Given the description of an element on the screen output the (x, y) to click on. 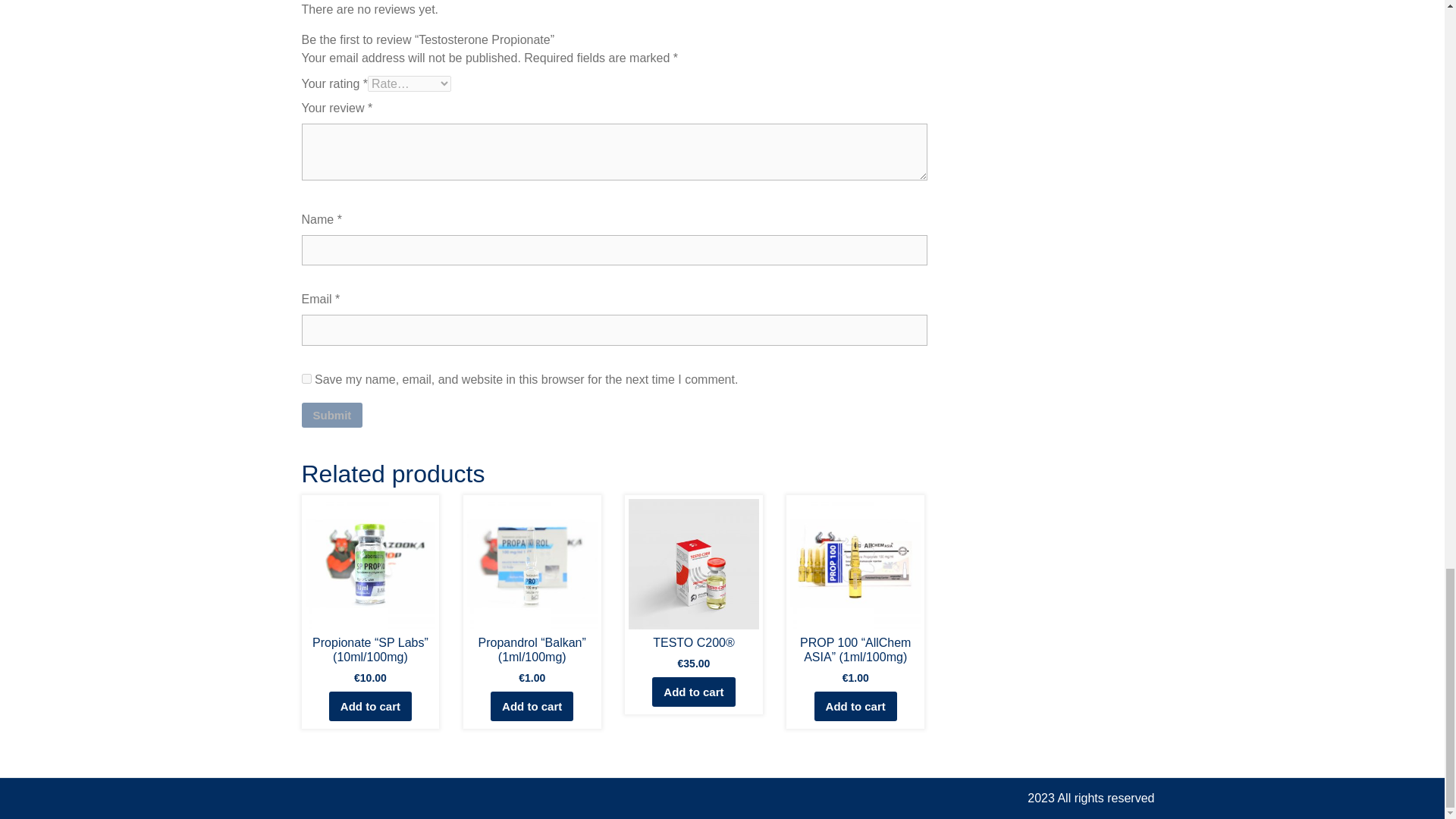
yes (306, 378)
Add to cart (854, 706)
Add to cart (693, 691)
Submit (331, 415)
Add to cart (531, 706)
Add to cart (370, 706)
Submit (331, 415)
